Given the description of an element on the screen output the (x, y) to click on. 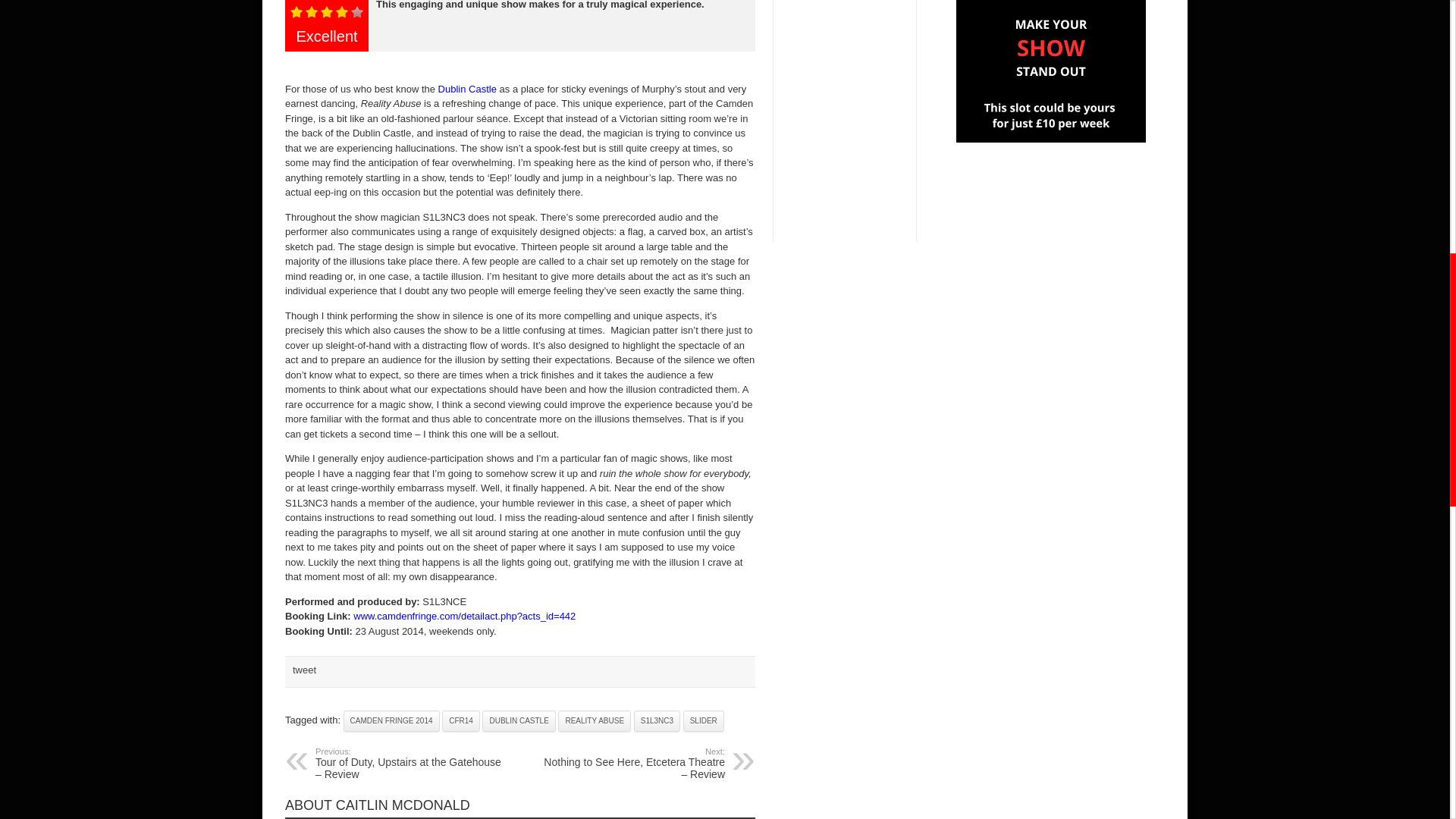
Excellent (326, 12)
Dublin Castle (467, 89)
